Given the description of an element on the screen output the (x, y) to click on. 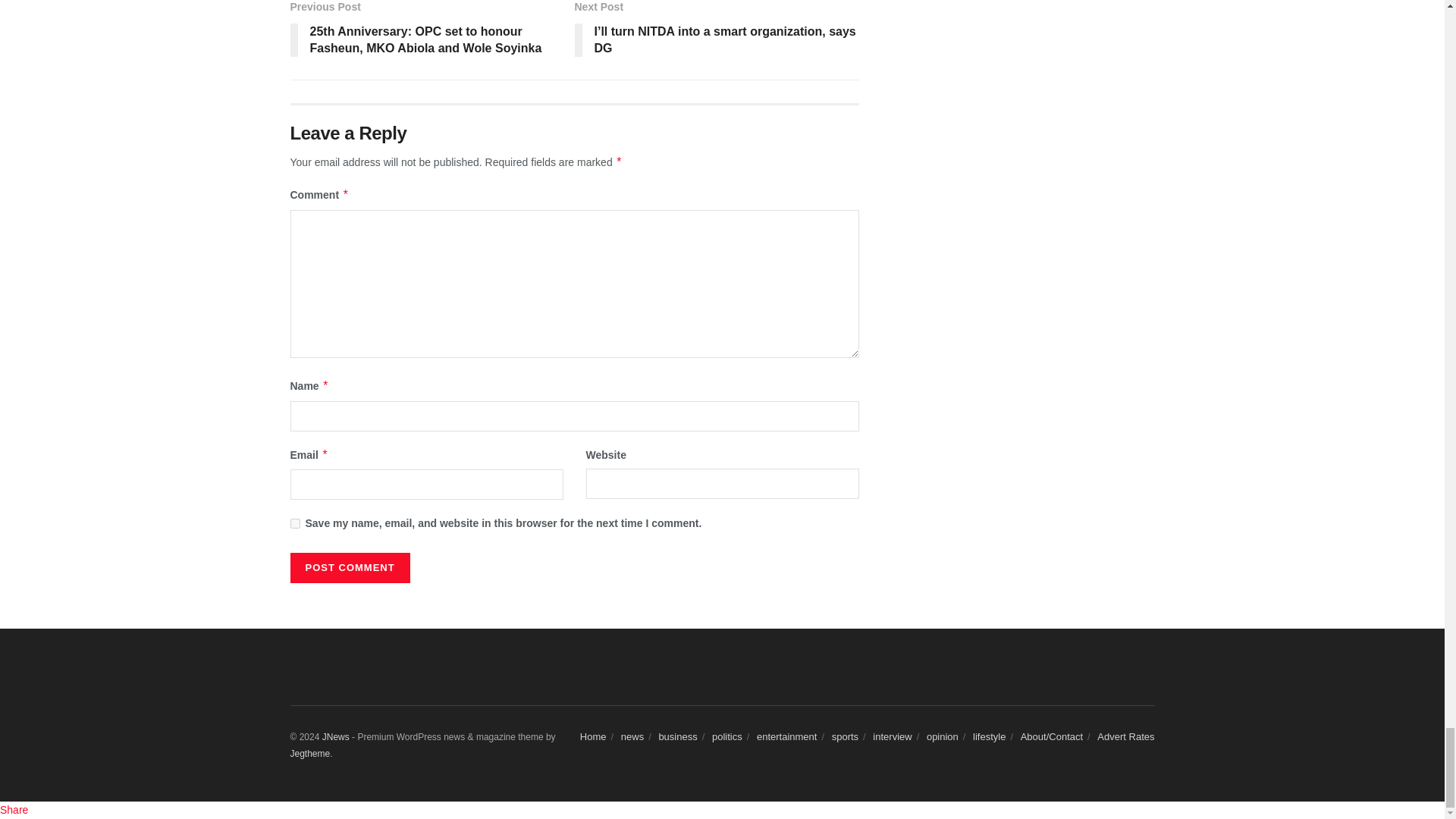
yes (294, 523)
Jegtheme (309, 753)
Post Comment (349, 567)
